Given the description of an element on the screen output the (x, y) to click on. 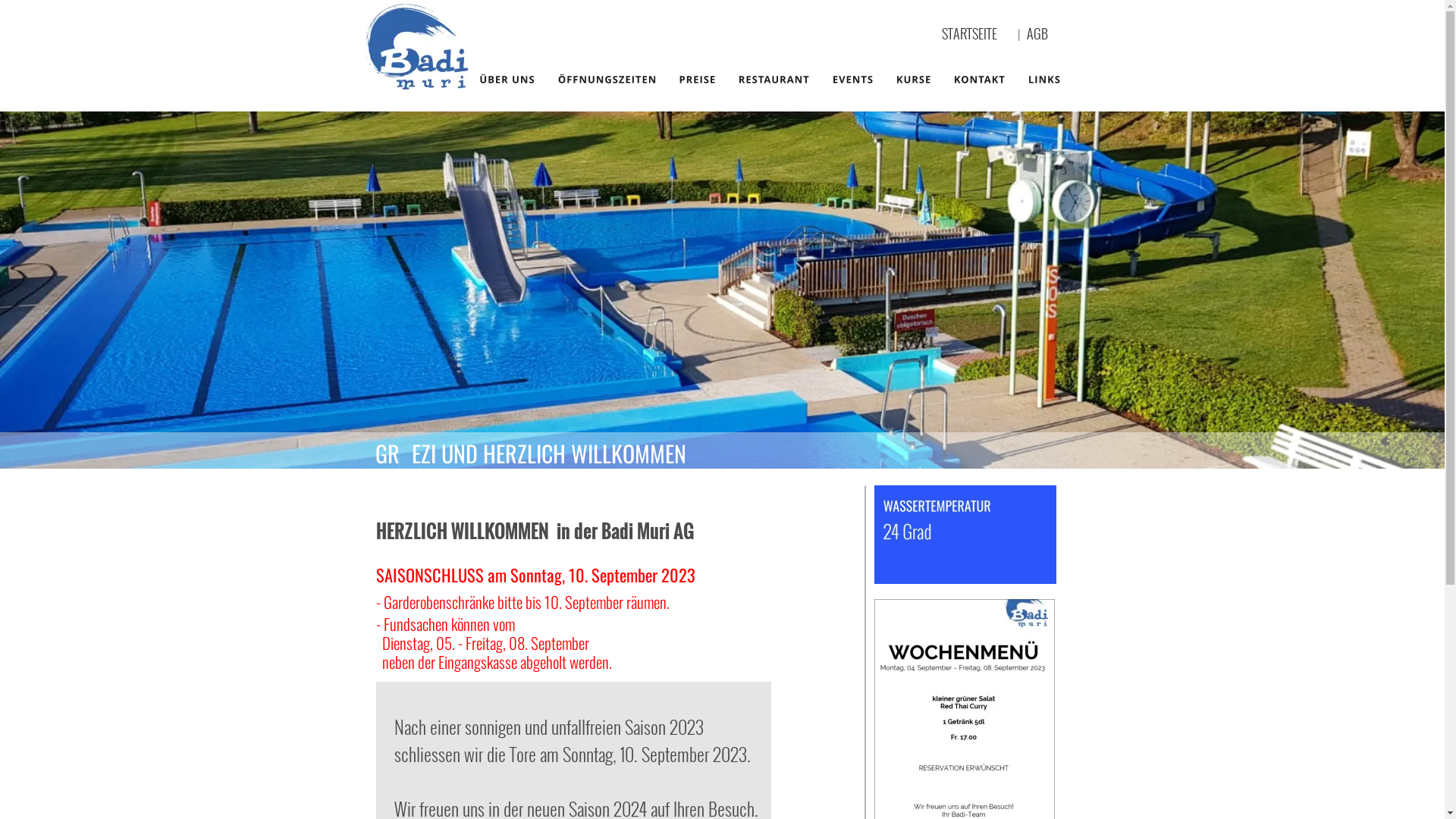
|   Element type: text (1021, 35)
AGB    Element type: text (1041, 33)
STARTSEITE Element type: text (969, 33)
